Given the description of an element on the screen output the (x, y) to click on. 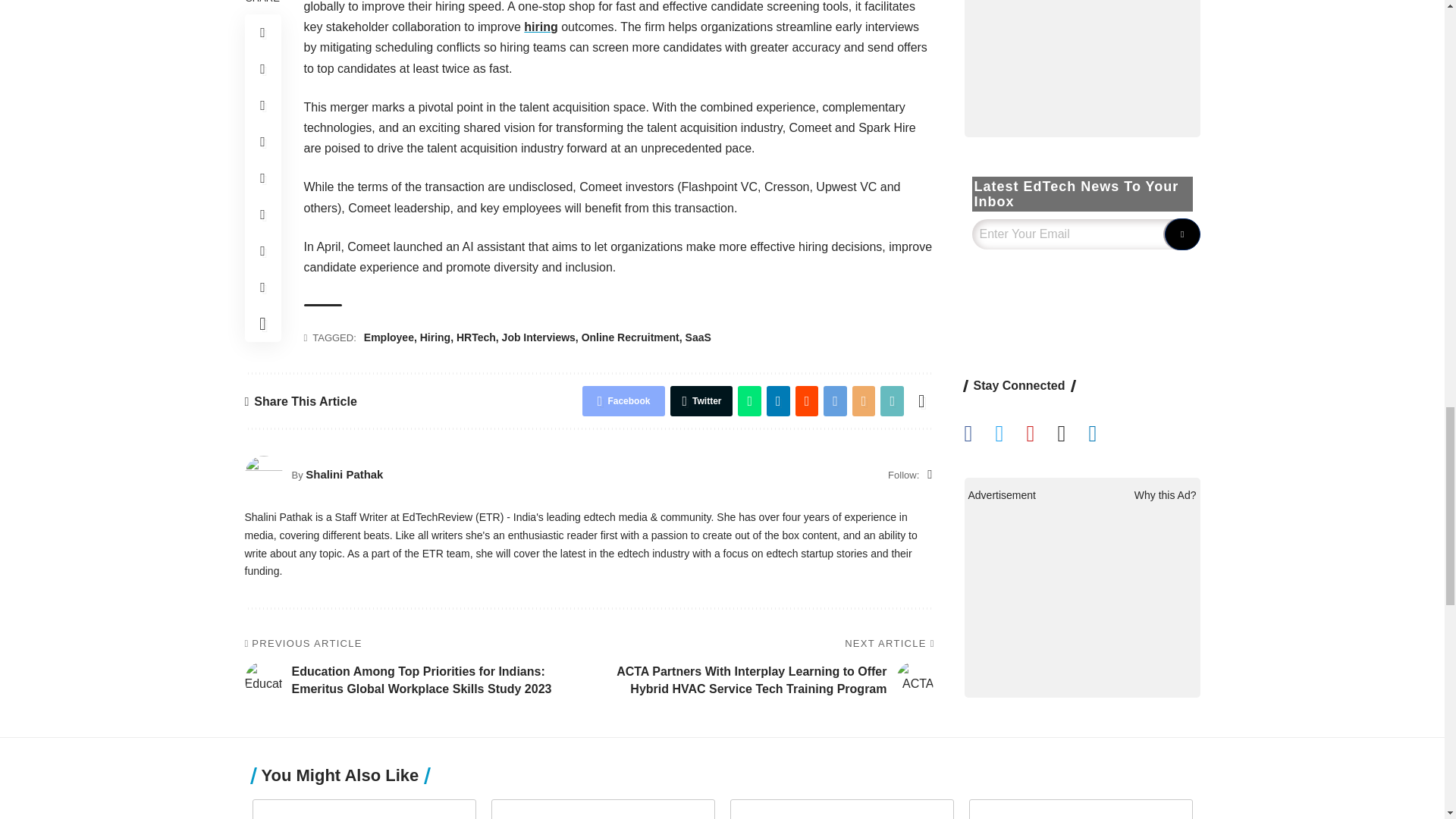
Acta-partners-with-interplay-learning (915, 679)
Education-among-top-priorities-for-indians (263, 679)
Shalini-pathak (263, 474)
